Given the description of an element on the screen output the (x, y) to click on. 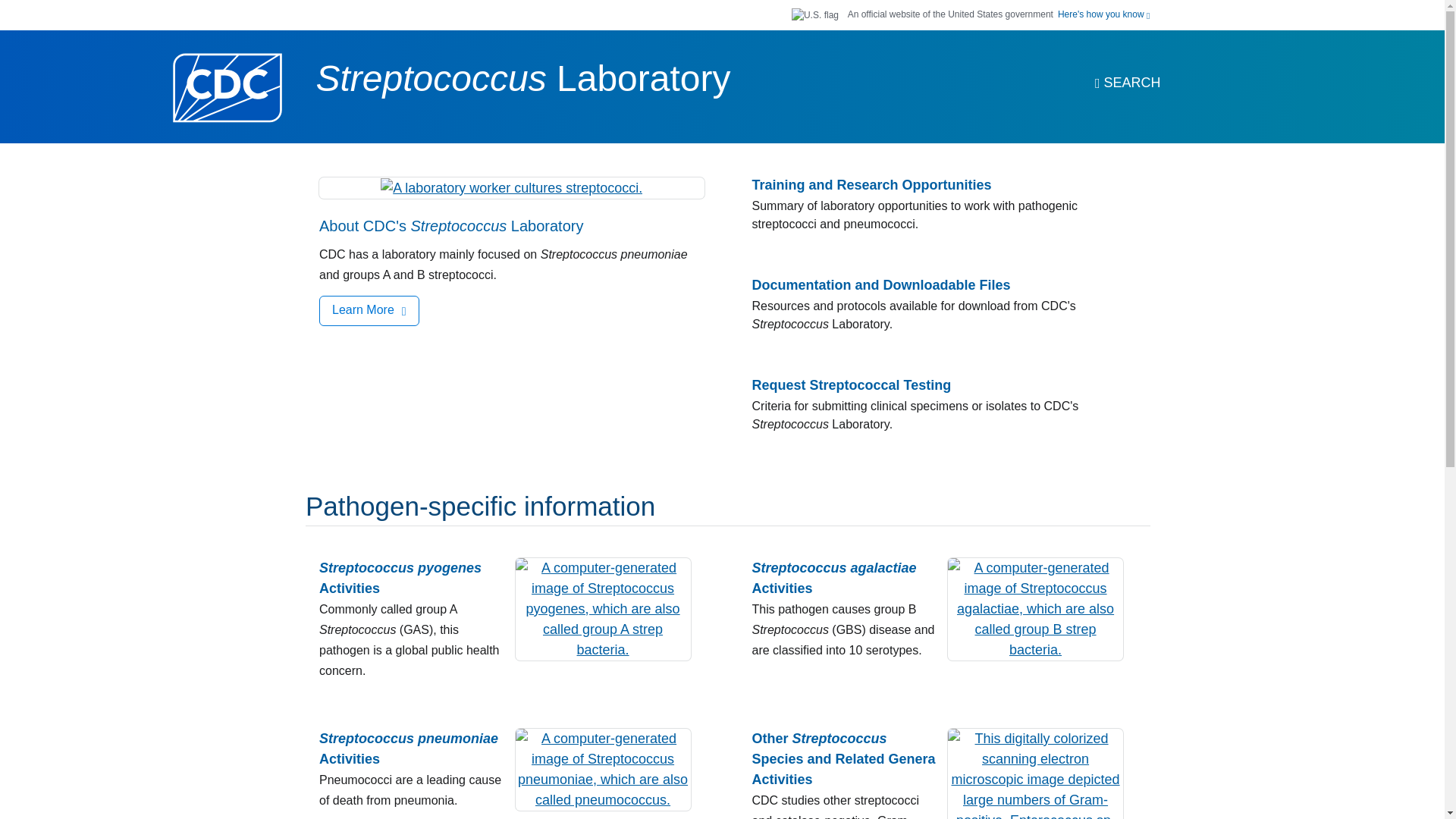
About CDC's Streptococcus Laboratory (450, 226)
Other Streptococcus Species and Related Genera Activities (844, 759)
strep lab culture (511, 188)
Streptococcus pyogenes Activities (410, 577)
Learn More (368, 310)
Streptococcus agalactiae Activities (844, 577)
Streptococcus Laboratory (522, 78)
SEARCH (1127, 83)
Learn More (368, 310)
Request Streptococcal Testing (852, 385)
